Given the description of an element on the screen output the (x, y) to click on. 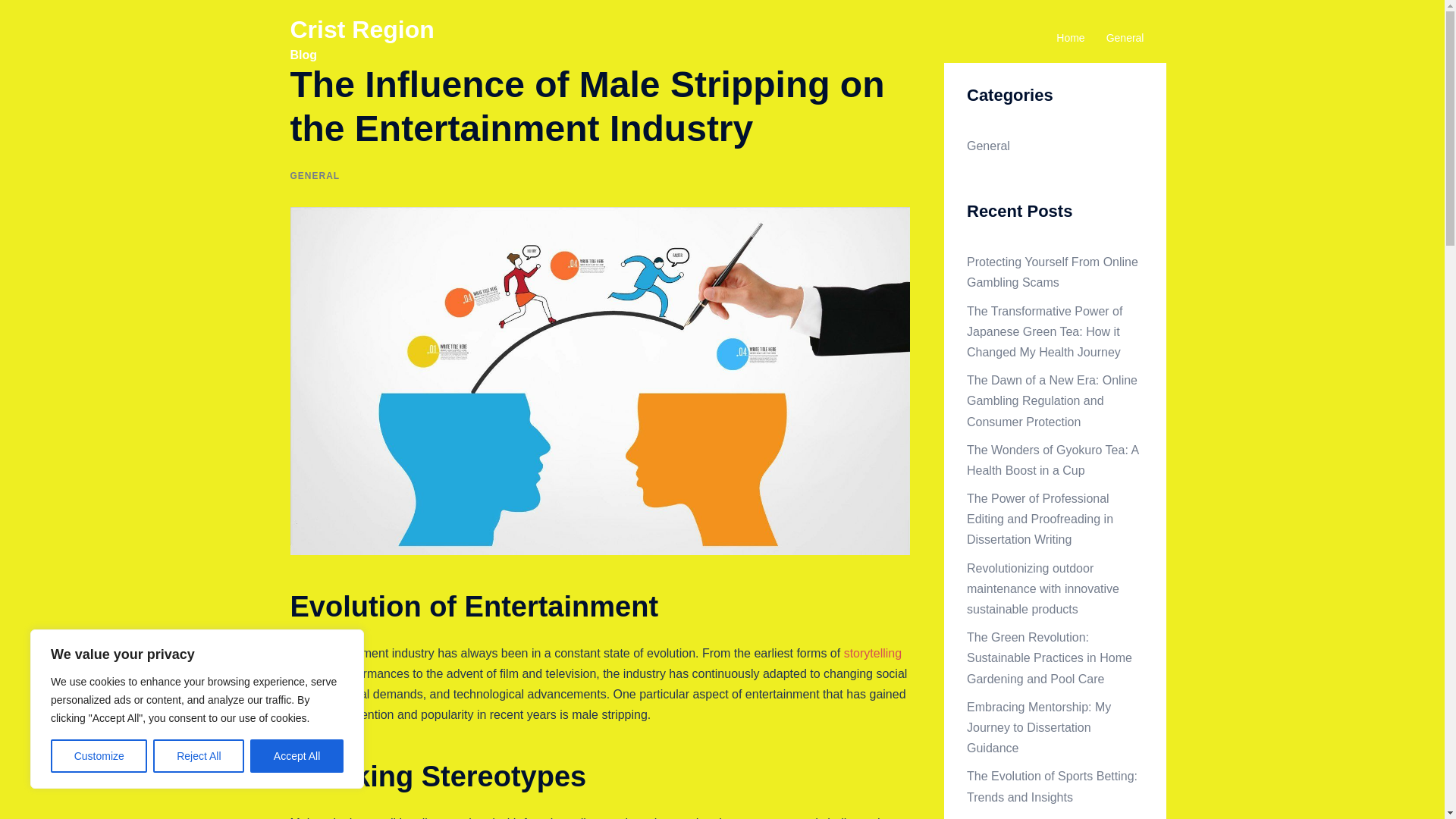
Home (1070, 38)
Customize (98, 756)
Protecting Yourself From Online Gambling Scams (1052, 272)
Crist Region (361, 29)
General (988, 145)
Accept All (296, 756)
The Wonders of Gyokuro Tea: A Health Boost in a Cup (1052, 459)
storytelling (872, 653)
Reject All (198, 756)
General (1125, 38)
